Given the description of an element on the screen output the (x, y) to click on. 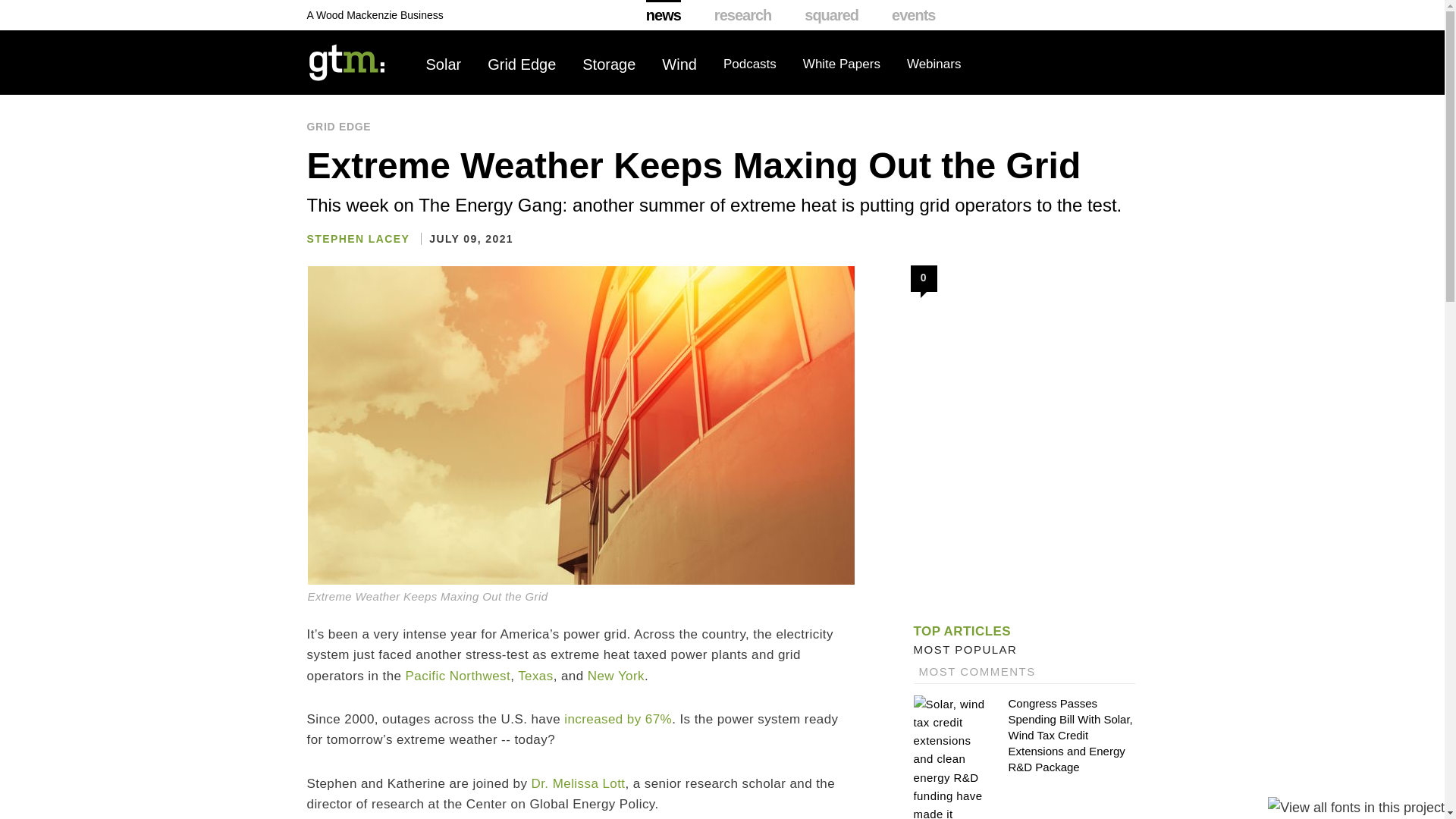
White Papers (841, 64)
news (663, 15)
squared (832, 15)
Podcasts (749, 64)
Grid Edge (521, 64)
research (742, 15)
Solar (443, 64)
Storage (608, 64)
Wind (679, 64)
events (912, 15)
